Given the description of an element on the screen output the (x, y) to click on. 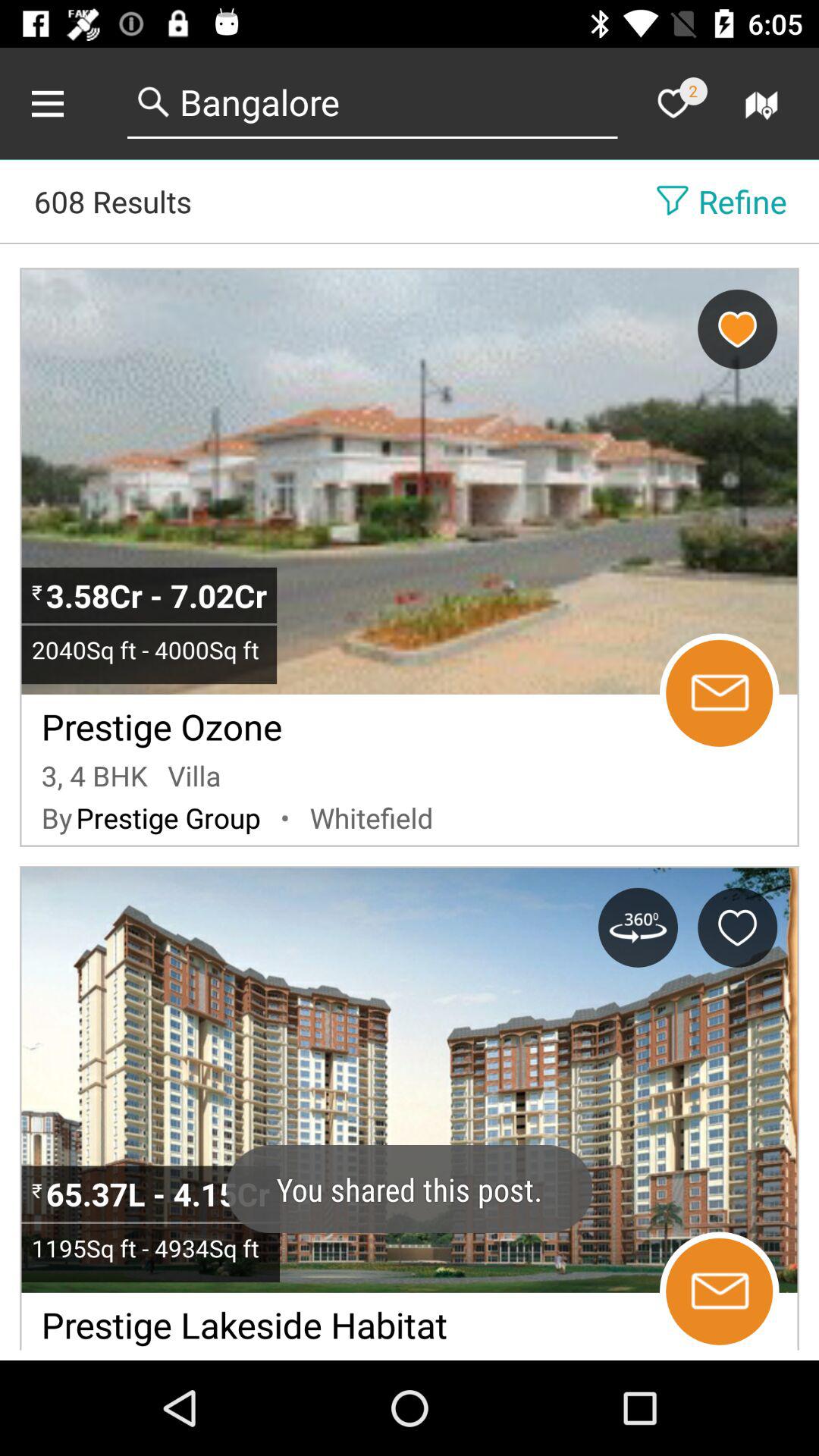
message seller (719, 1291)
